Given the description of an element on the screen output the (x, y) to click on. 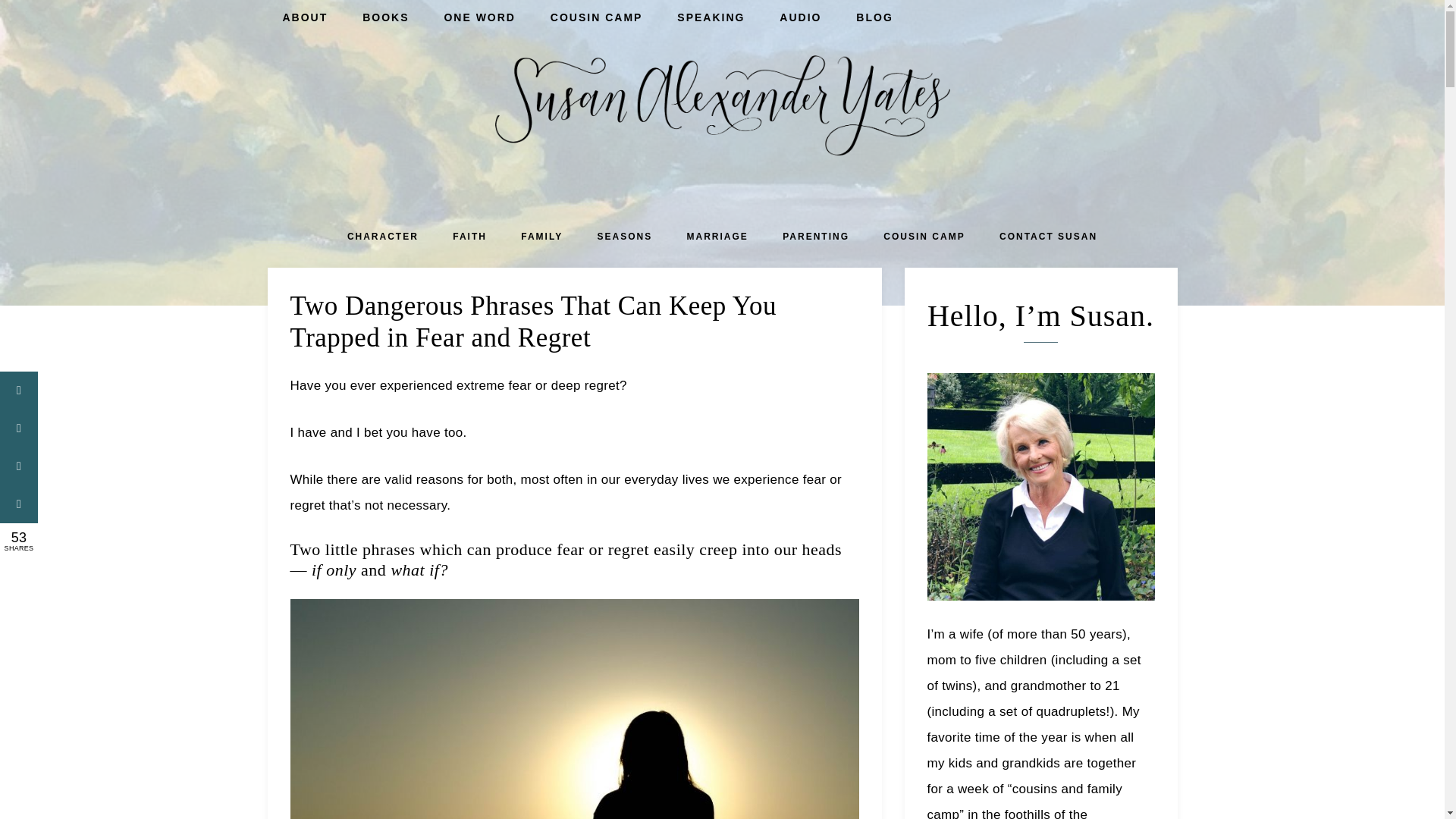
AUDIO (799, 18)
CONTACT SUSAN (1048, 238)
BLOG (874, 18)
COUSIN CAMP (596, 18)
CHARACTER (382, 238)
PARENTING (815, 238)
ABOUT (304, 18)
ONE WORD (479, 18)
SPEAKING (711, 18)
BOOKS (385, 18)
